Given the description of an element on the screen output the (x, y) to click on. 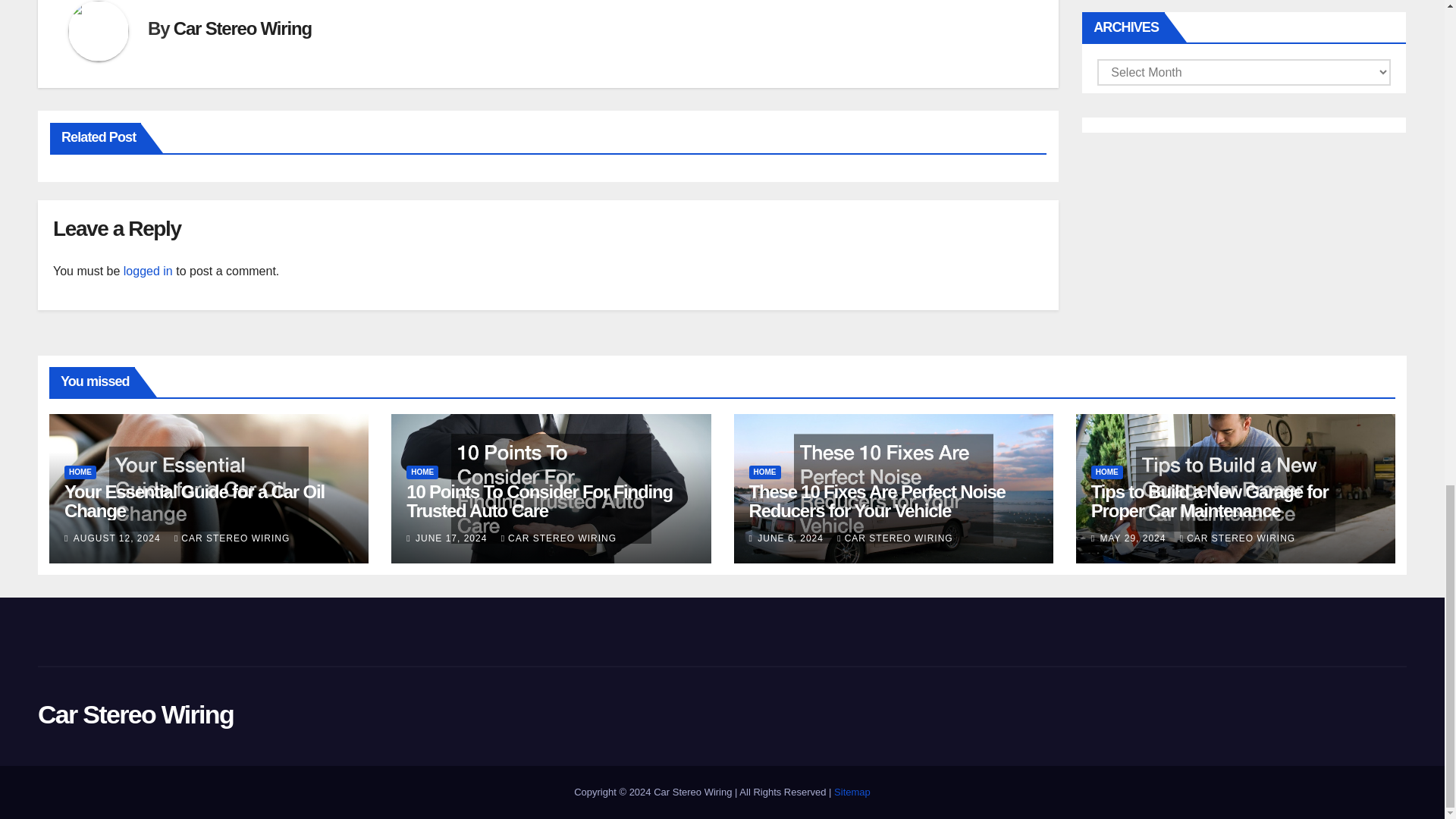
Permalink to: Your Essential Guide for a Car Oil Change (194, 500)
Car Stereo Wiring (242, 28)
logged in (148, 270)
